Given the description of an element on the screen output the (x, y) to click on. 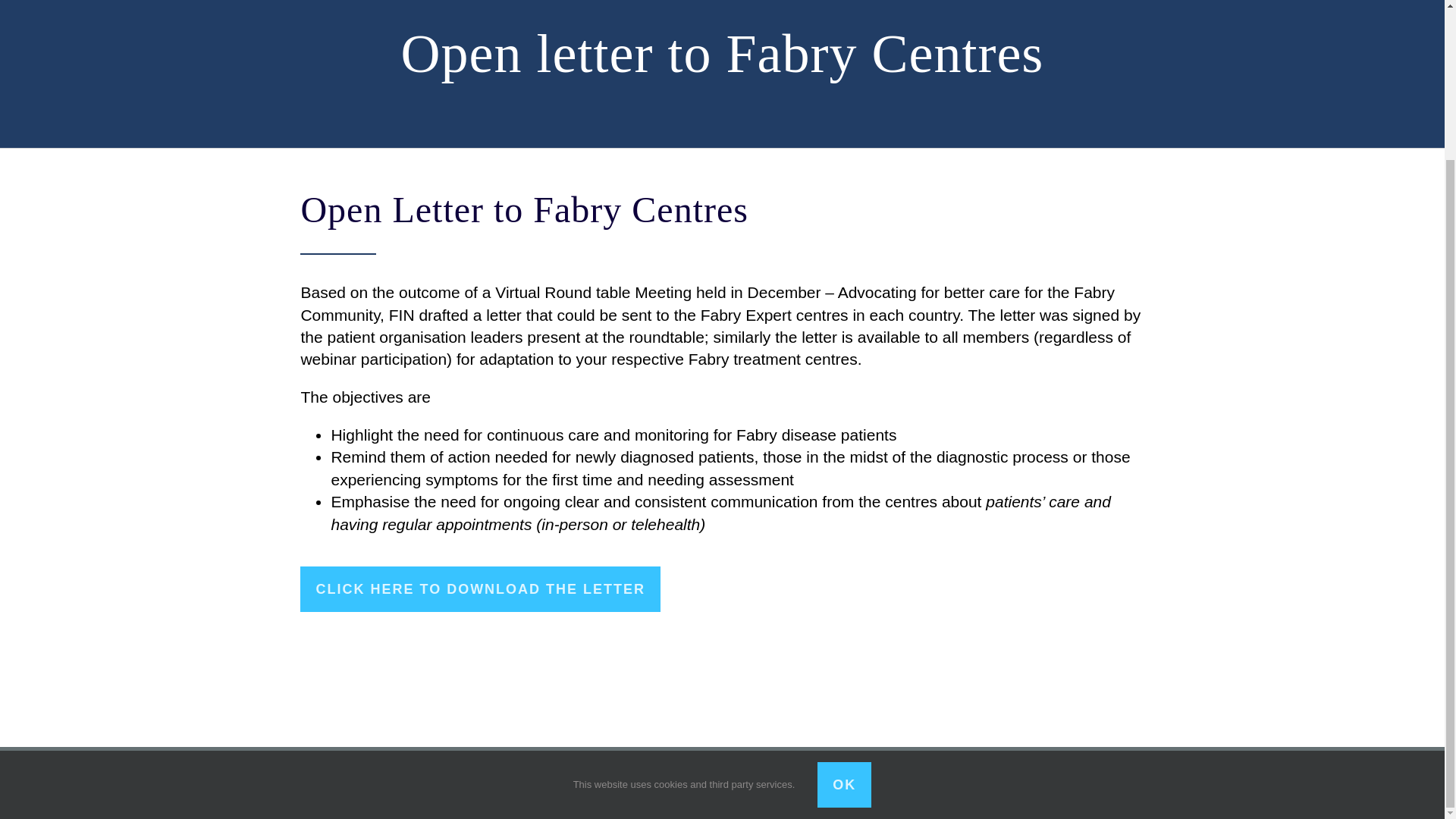
Privacy (394, 780)
CLICK HERE TO DOWNLOAD THE LETTER (480, 588)
Disclaimer (452, 780)
